Given the description of an element on the screen output the (x, y) to click on. 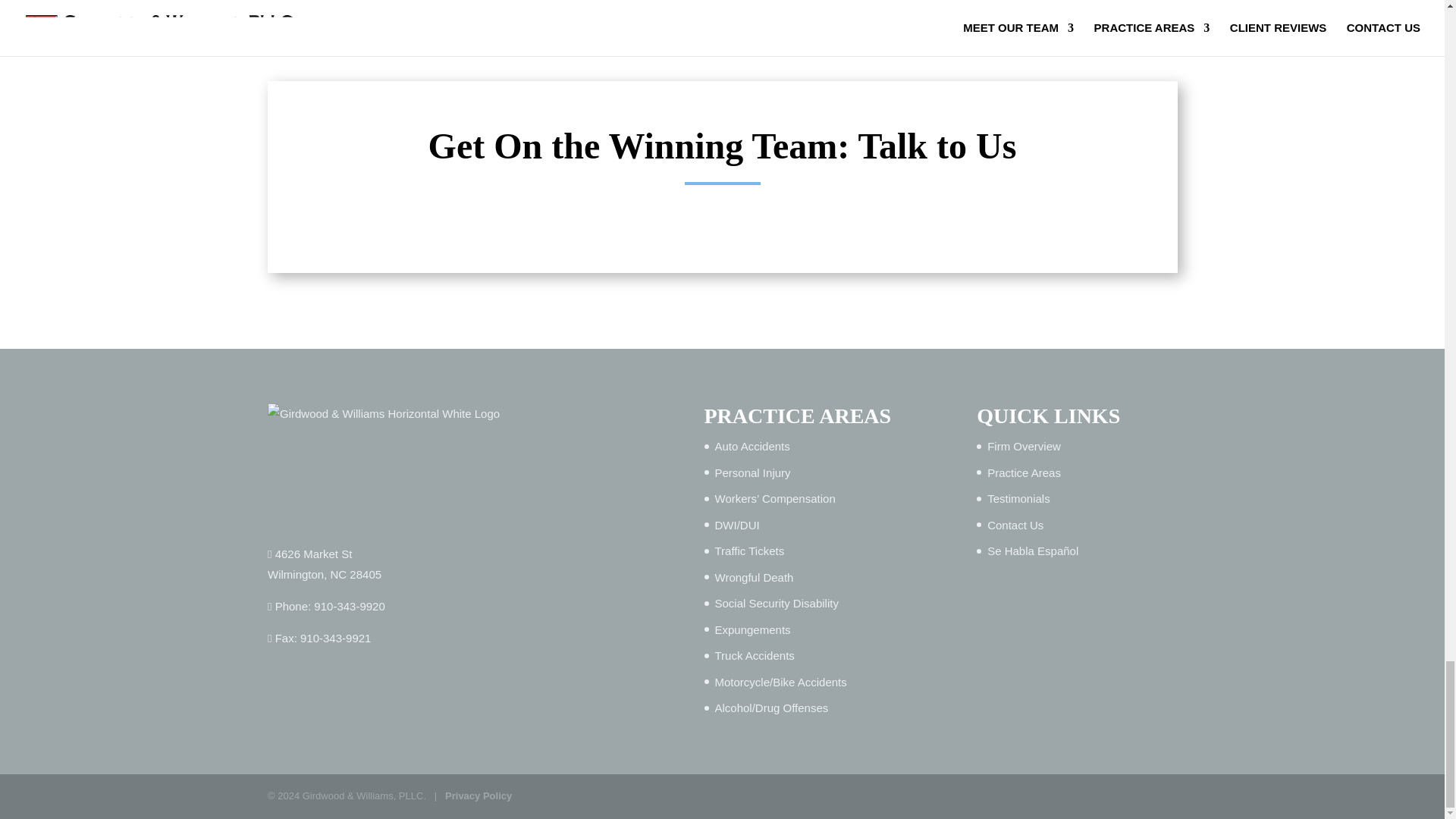
Personal Injury (752, 472)
Phone: 910-343-9920 (326, 605)
Wrongful Death (753, 576)
Traffic Tickets (749, 550)
Auto Accidents (324, 563)
